Given the description of an element on the screen output the (x, y) to click on. 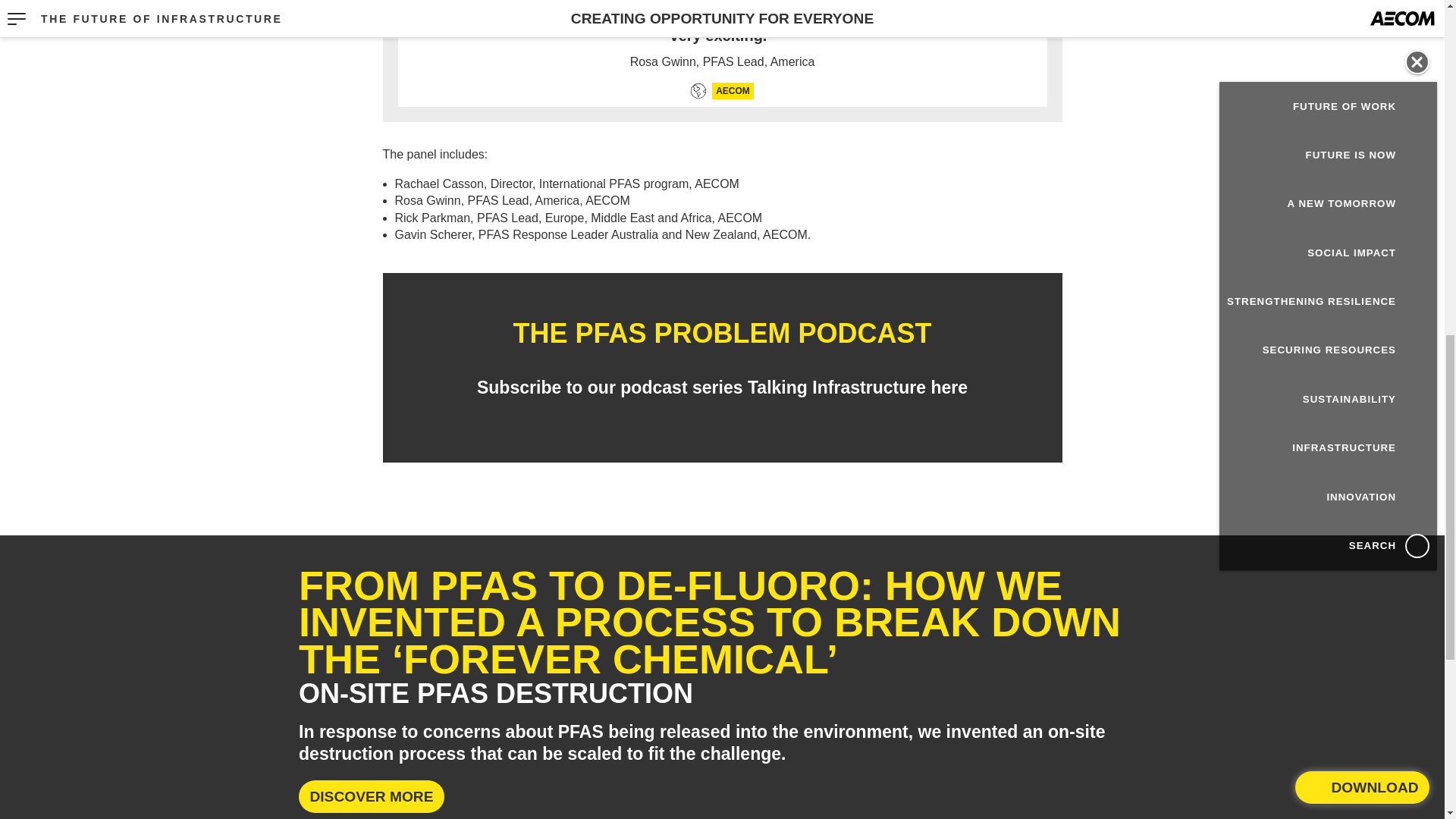
AECOM (732, 90)
DISCOVER MORE (371, 796)
Subscribe to our podcast series Talking Infrastructure here (722, 387)
